Given the description of an element on the screen output the (x, y) to click on. 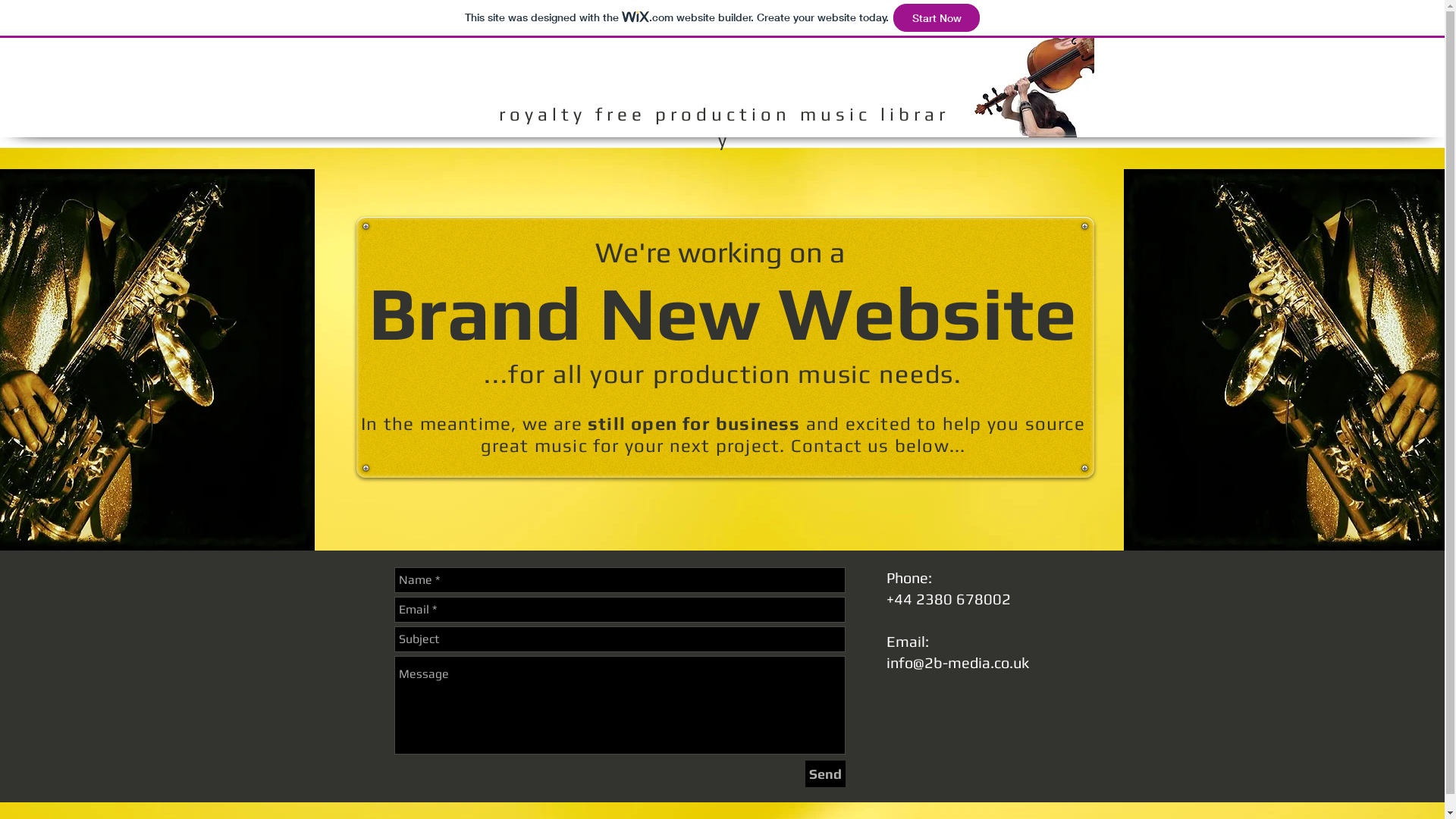
info@2b-media.co.uk Element type: text (956, 662)
Send Element type: text (825, 773)
